Given the description of an element on the screen output the (x, y) to click on. 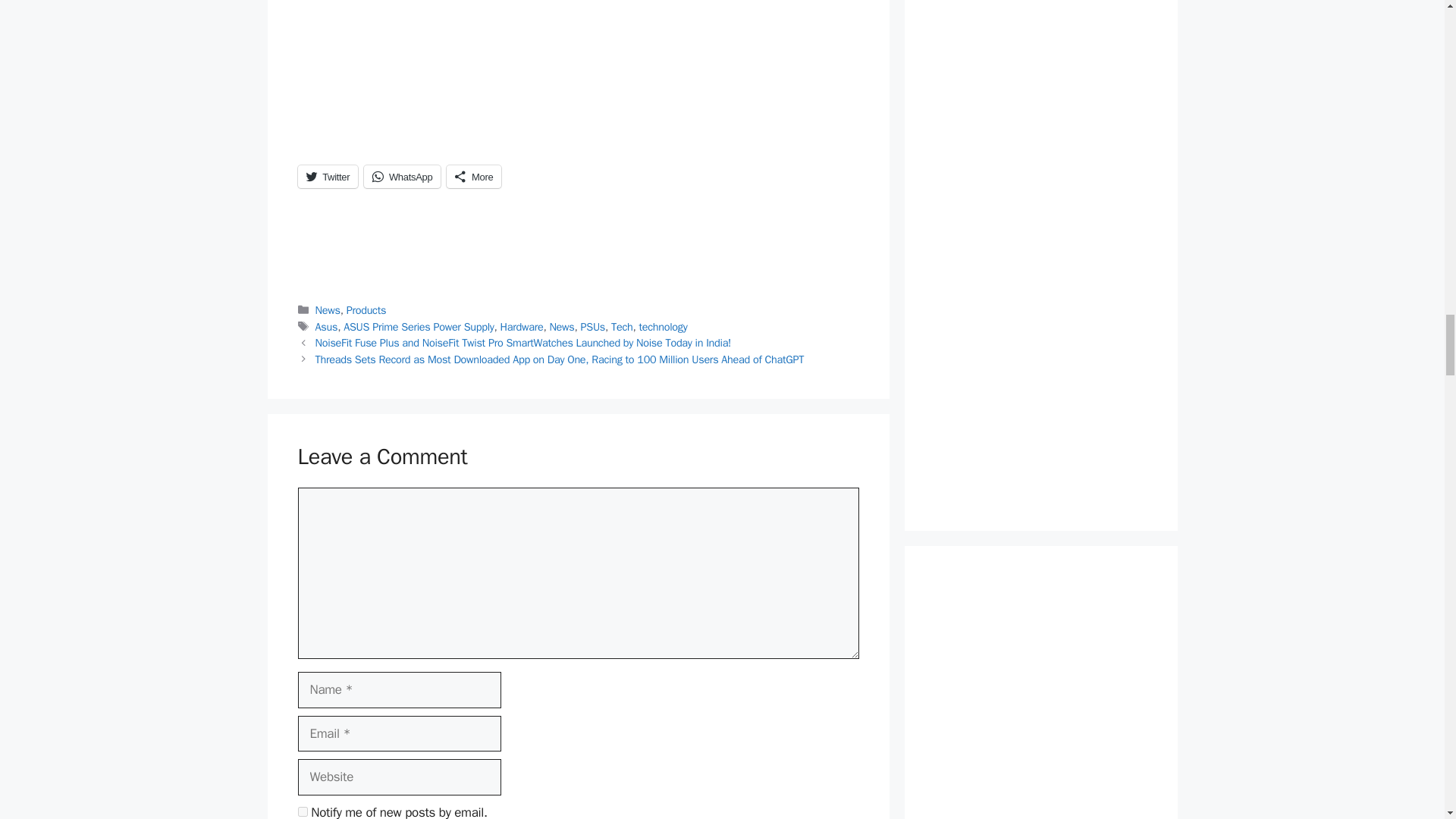
subscribe (302, 811)
